Given the description of an element on the screen output the (x, y) to click on. 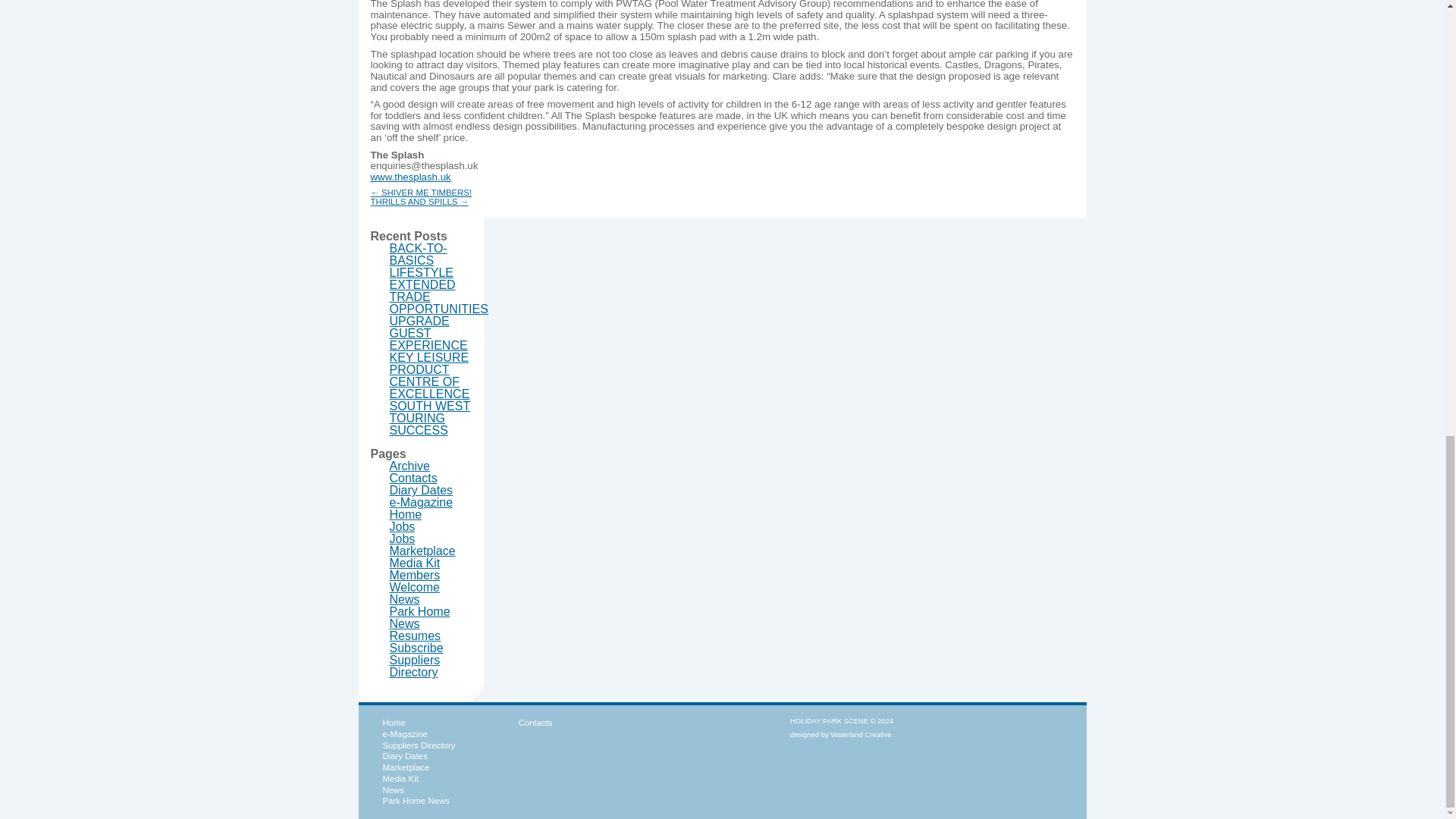
SOUTH WEST TOURING SUCCESS (430, 417)
Media Kit (415, 562)
Suppliers Directory (417, 744)
Park Home News (419, 617)
Archive (409, 465)
Jobs (402, 526)
Jobs (402, 538)
Subscribe (417, 647)
Diary Dates (403, 755)
Home (406, 513)
